Given the description of an element on the screen output the (x, y) to click on. 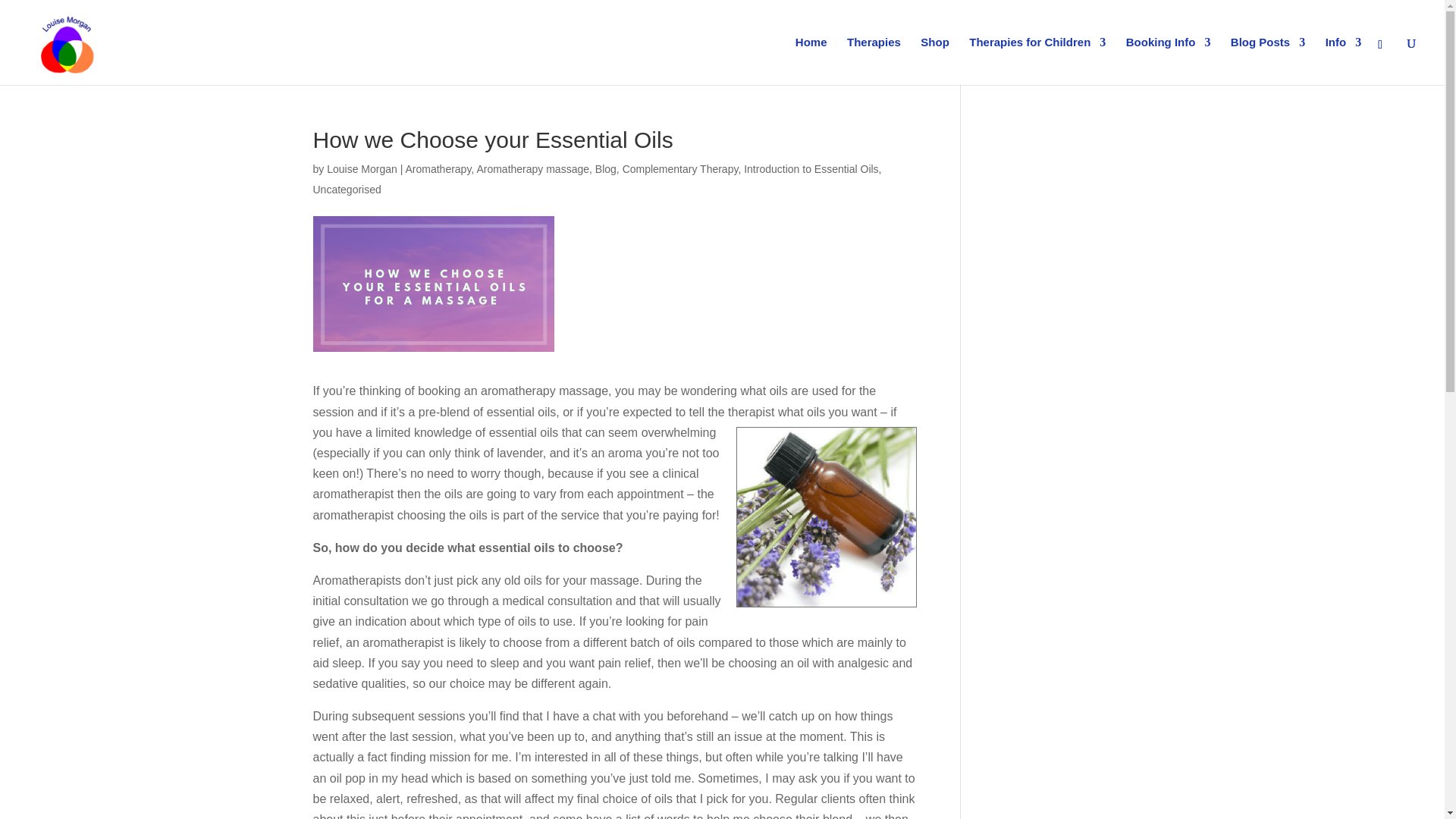
Therapies (874, 60)
Booking Info (1168, 60)
Therapies for Children (1037, 60)
Blog Posts (1267, 60)
Posts by Louise Morgan (361, 168)
